Given the description of an element on the screen output the (x, y) to click on. 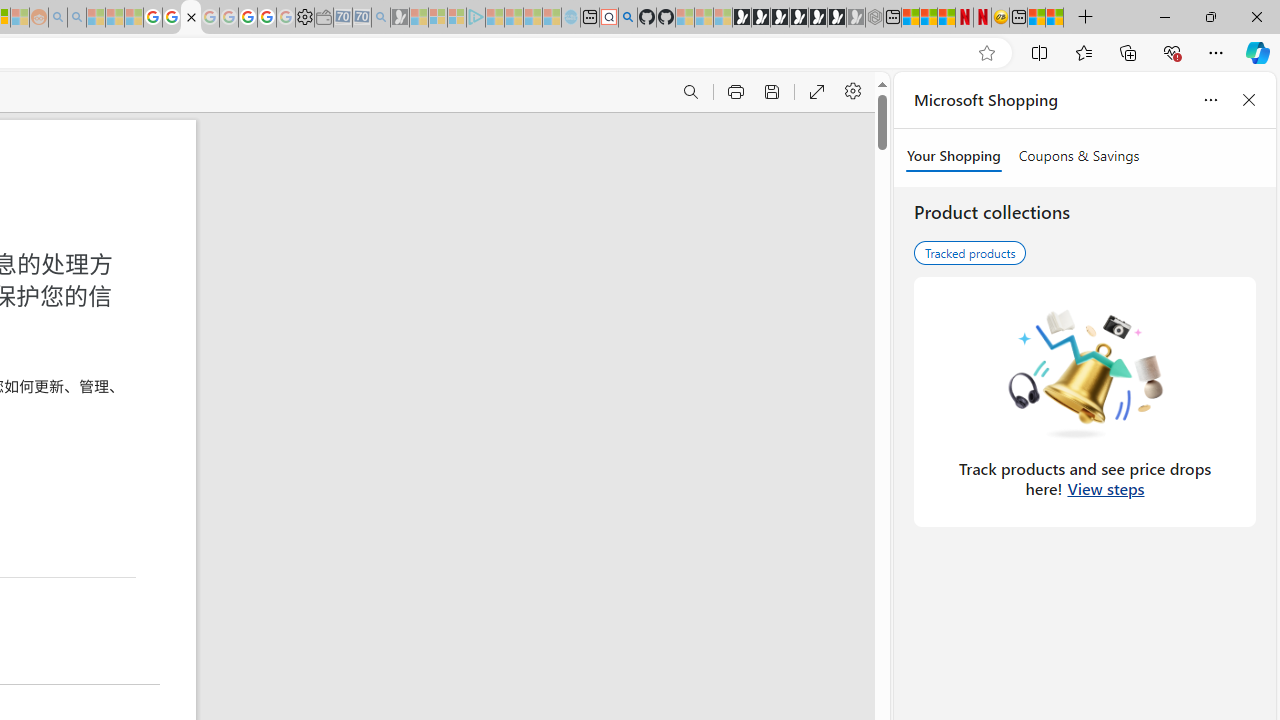
Enter PDF full screen (815, 92)
Settings and more (852, 92)
